Given the description of an element on the screen output the (x, y) to click on. 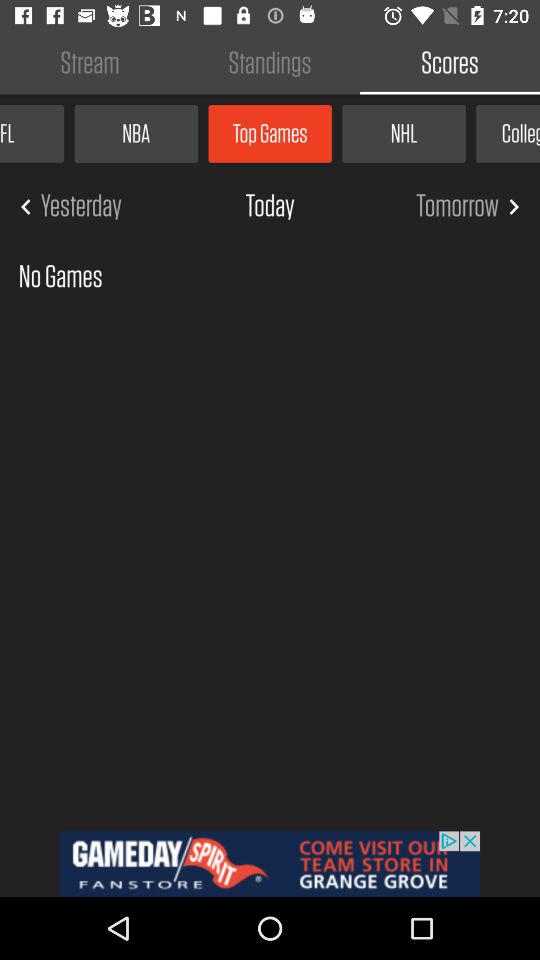
advertisement (270, 864)
